Given the description of an element on the screen output the (x, y) to click on. 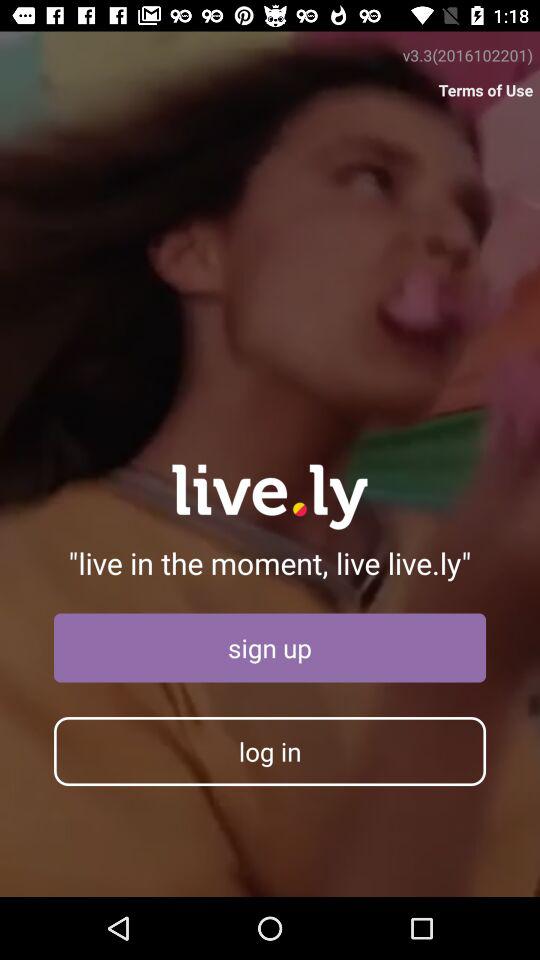
open item above log in app (269, 647)
